Given the description of an element on the screen output the (x, y) to click on. 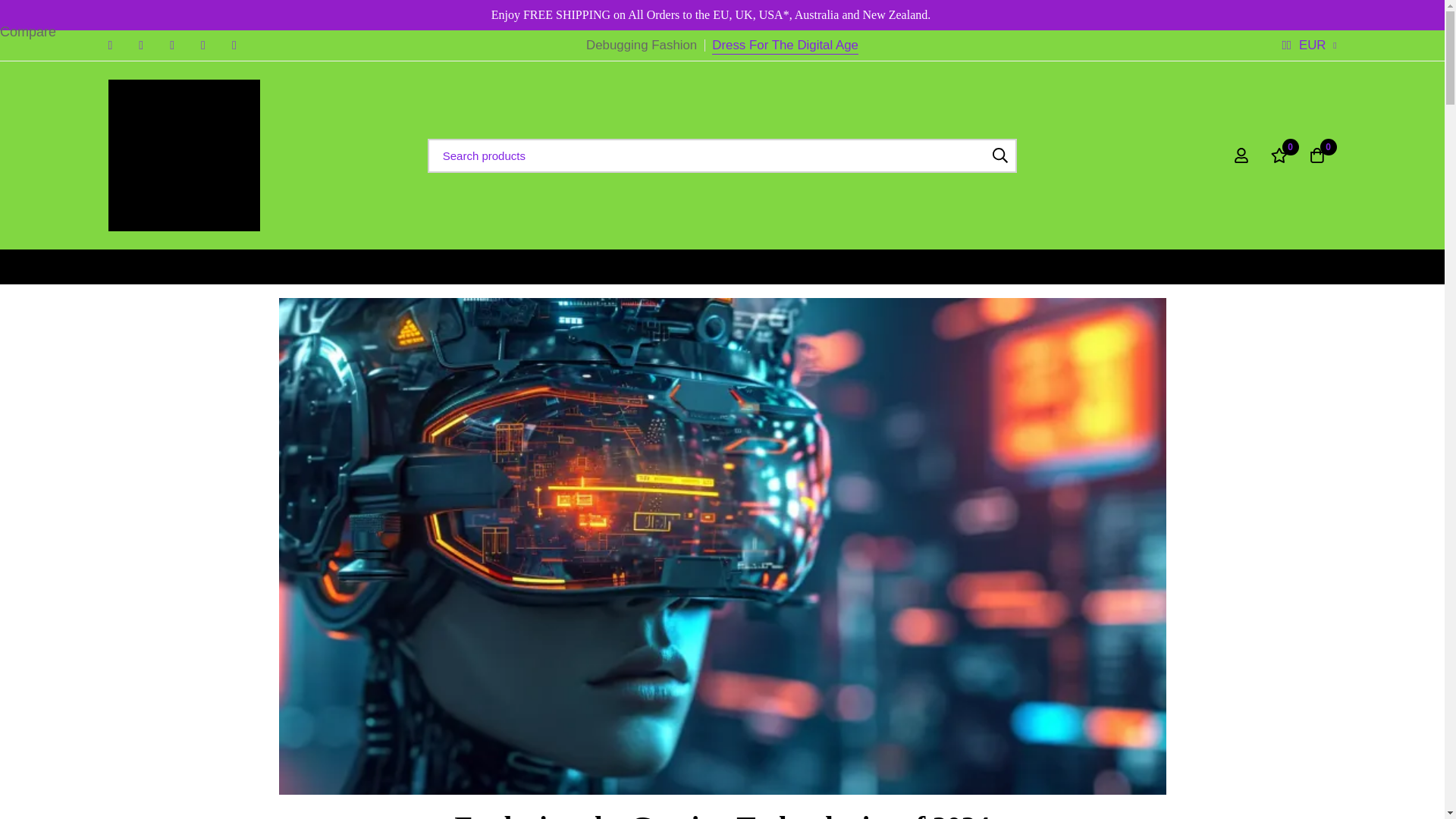
Search for: (722, 154)
0 (1279, 155)
0 (1317, 155)
Dress For The Digital Age (785, 45)
